Given the description of an element on the screen output the (x, y) to click on. 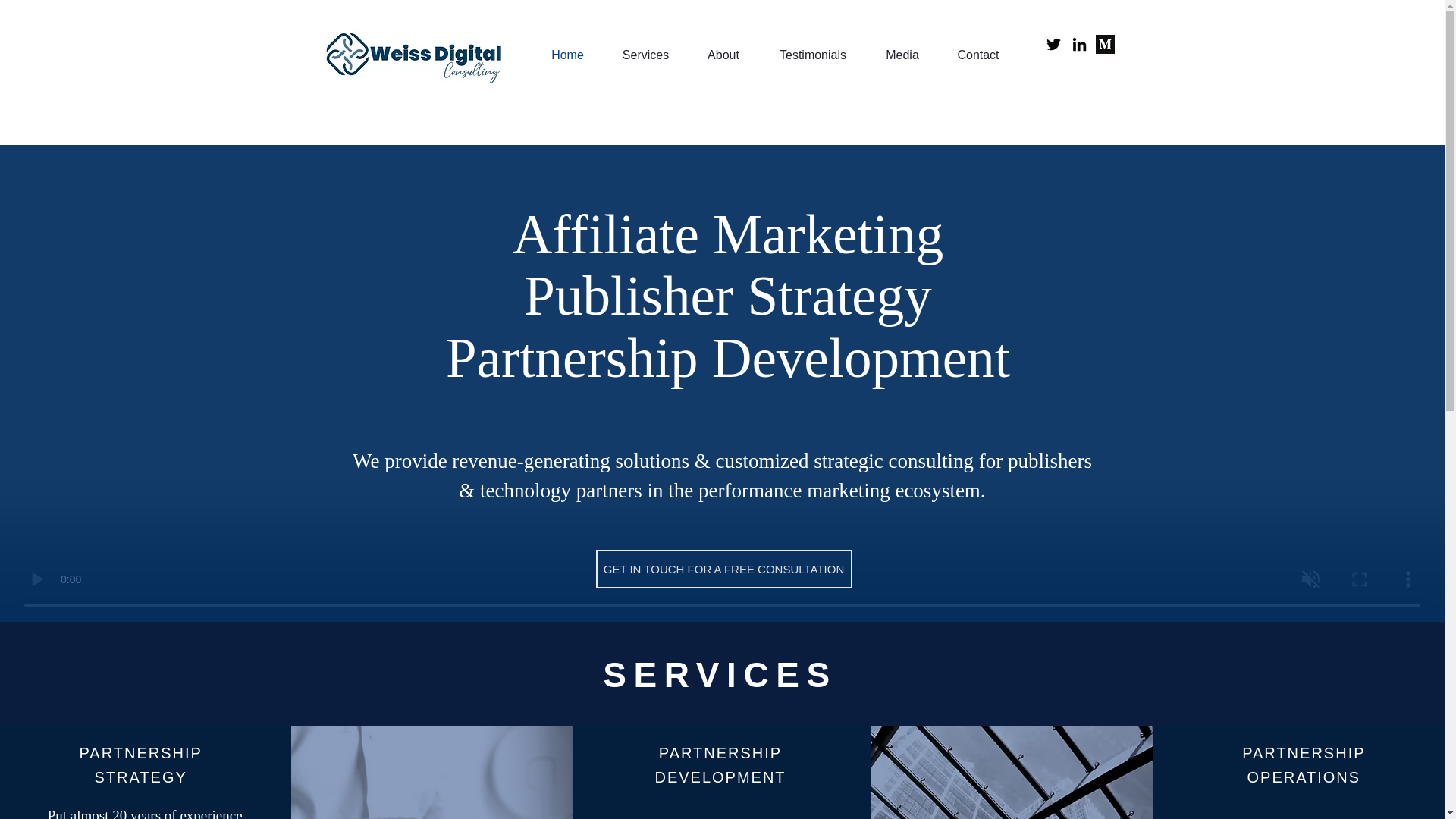
Contact (977, 54)
Services (646, 54)
GET IN TOUCH FOR A FREE CONSULTATION (723, 568)
Testimonials (812, 54)
Media (902, 54)
Home (568, 54)
